Given the description of an element on the screen output the (x, y) to click on. 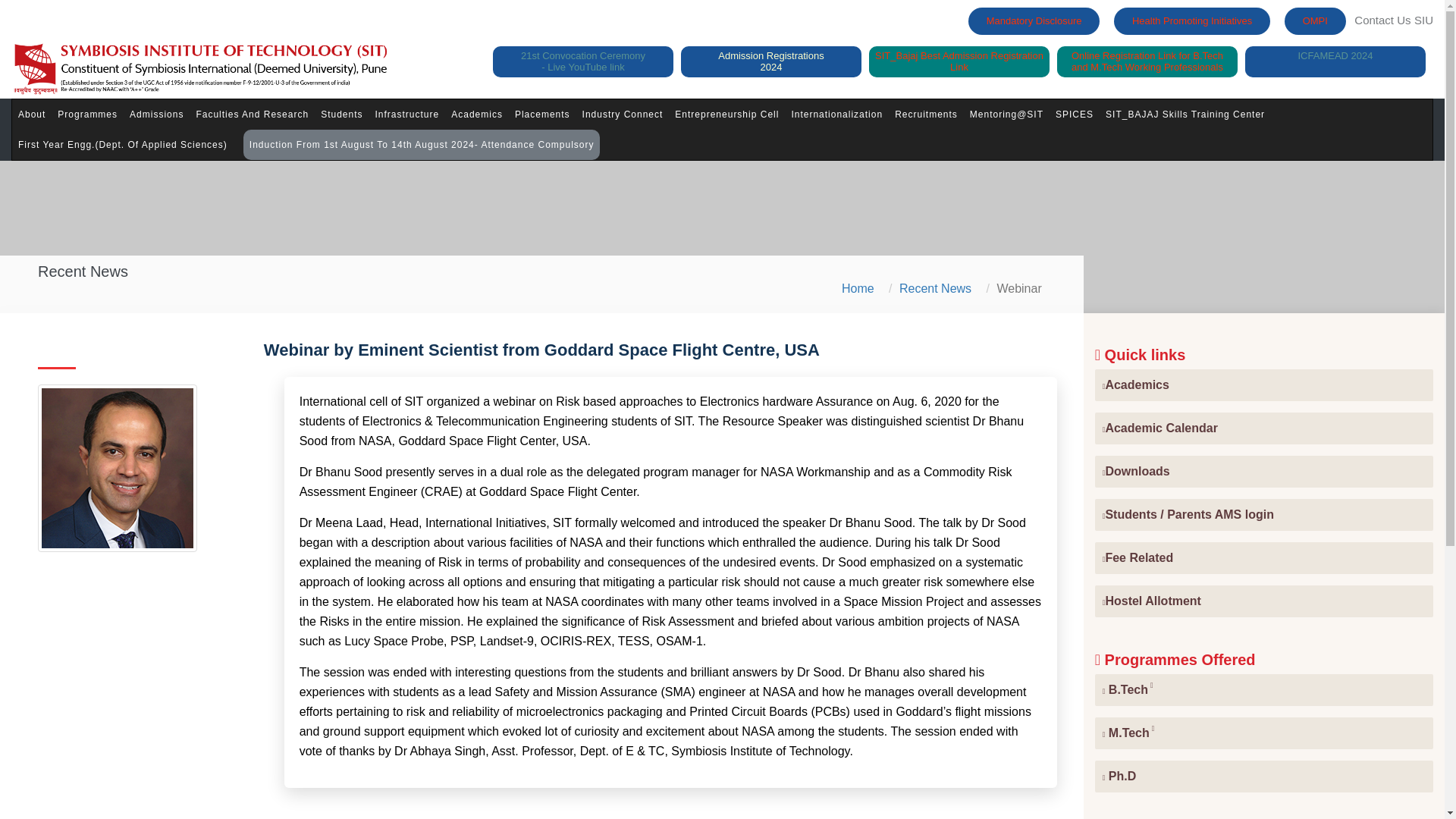
Contact Us (1382, 20)
Programmes (86, 114)
OMPI (1314, 21)
Health Promoting Initiatives (582, 60)
Mandatory Disclosure (1191, 21)
SIU (1034, 21)
About (771, 60)
